Given the description of an element on the screen output the (x, y) to click on. 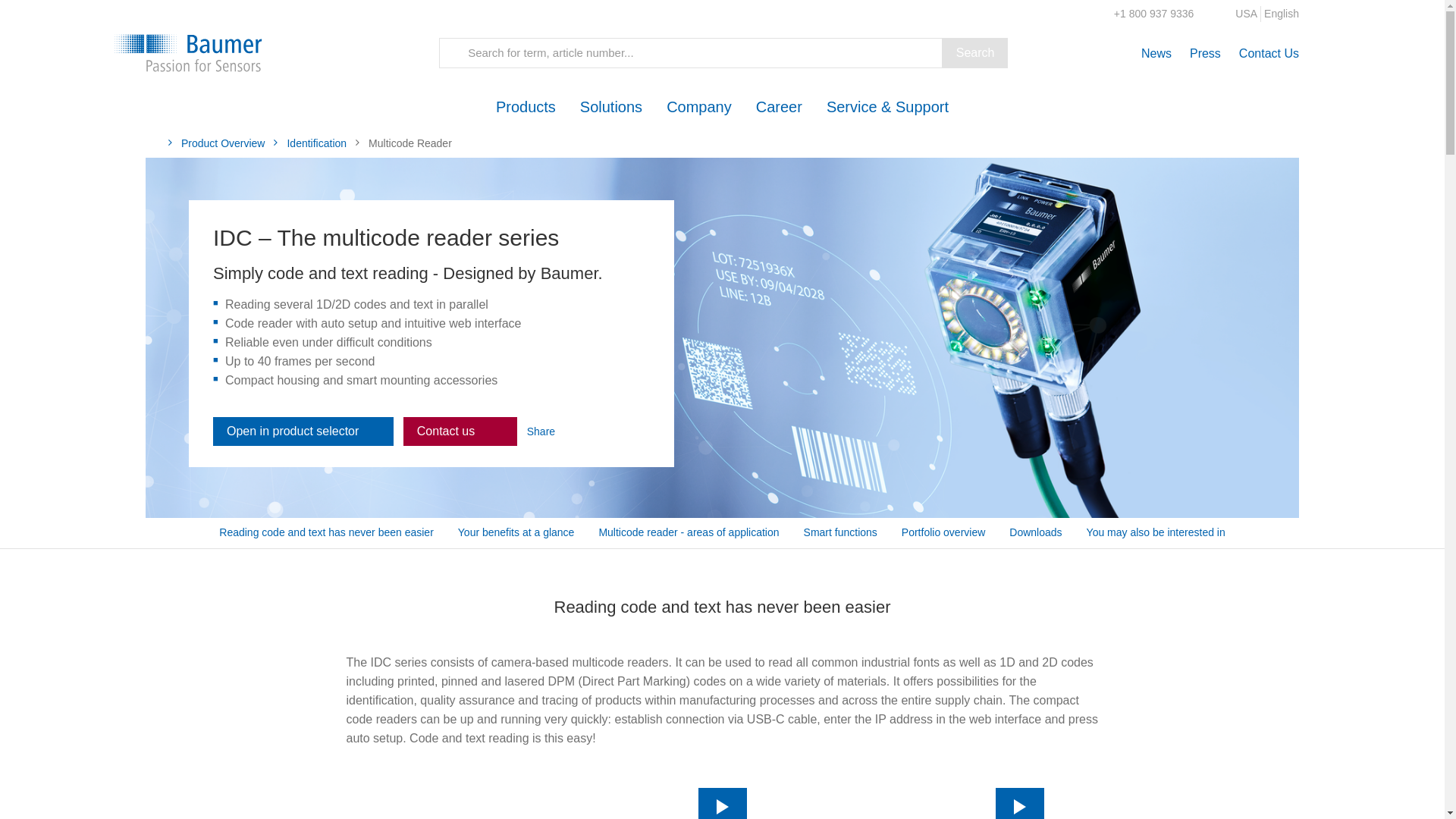
News (1156, 52)
Press (1205, 52)
Search (975, 52)
Contact Us (1268, 52)
